Given the description of an element on the screen output the (x, y) to click on. 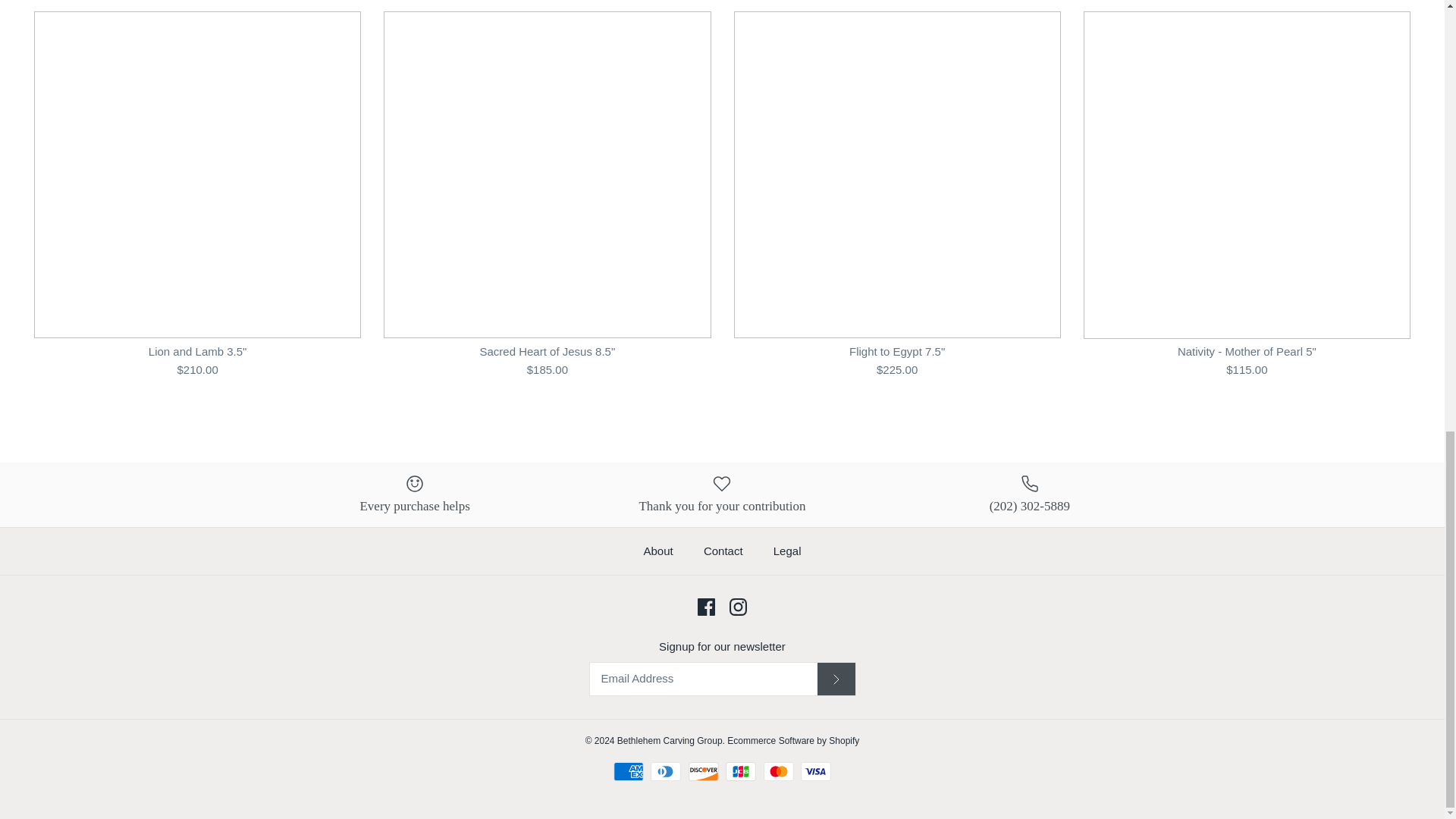
JCB (740, 771)
Instagram (737, 606)
Facebook (705, 606)
Diners Club (665, 771)
Discover (703, 771)
Mastercard (777, 771)
Instagram (737, 606)
Facebook (705, 606)
American Express (627, 771)
